Given the description of an element on the screen output the (x, y) to click on. 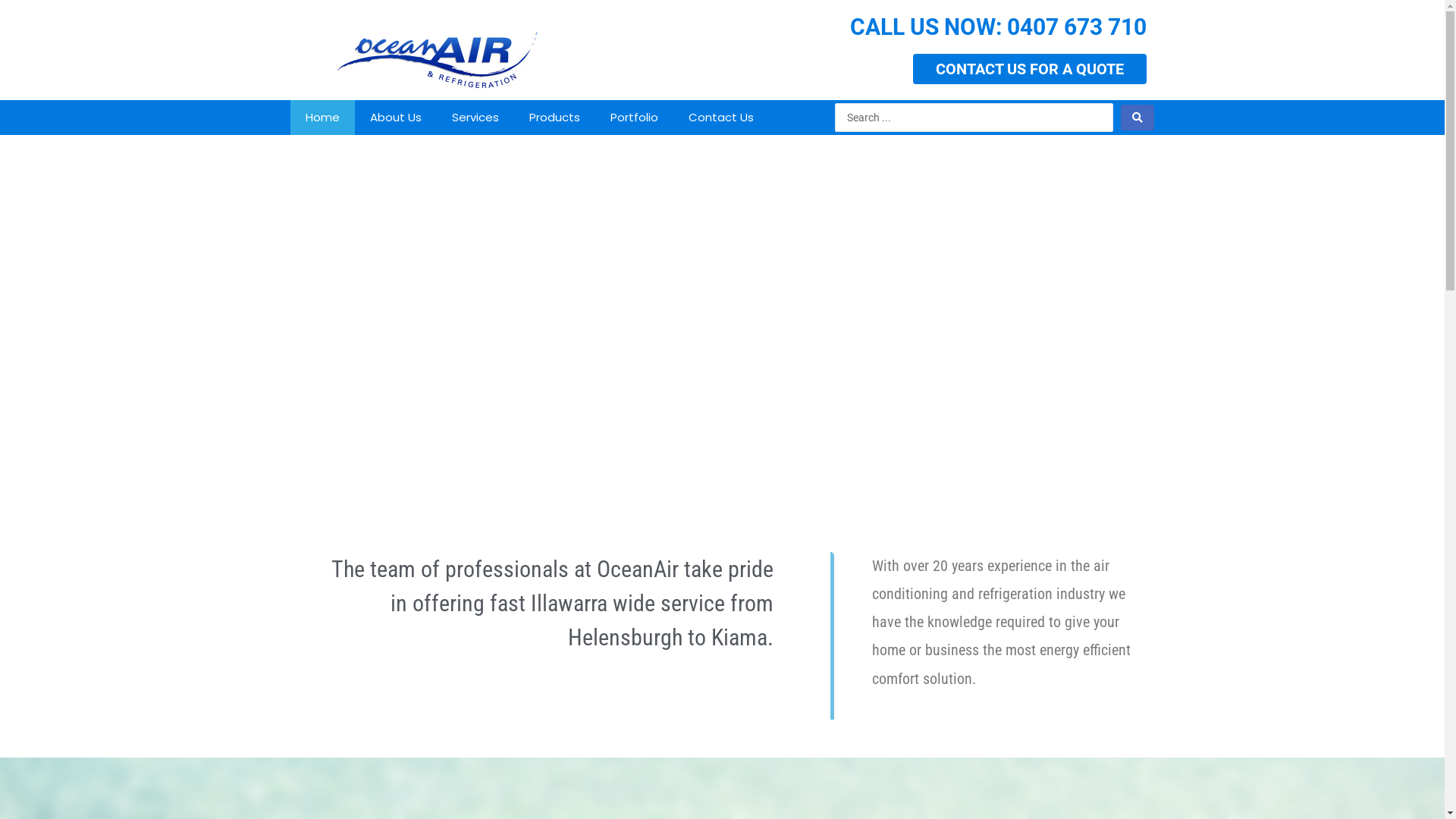
Products Element type: text (554, 117)
Contact Us Element type: text (720, 117)
Services Element type: text (475, 117)
CONTACT US FOR A QUOTE Element type: text (1029, 68)
About Us Element type: text (395, 117)
Home Element type: text (321, 117)
CALL US NOW: 0407 673 710 Element type: text (998, 26)
Portfolio Element type: text (633, 117)
